Given the description of an element on the screen output the (x, y) to click on. 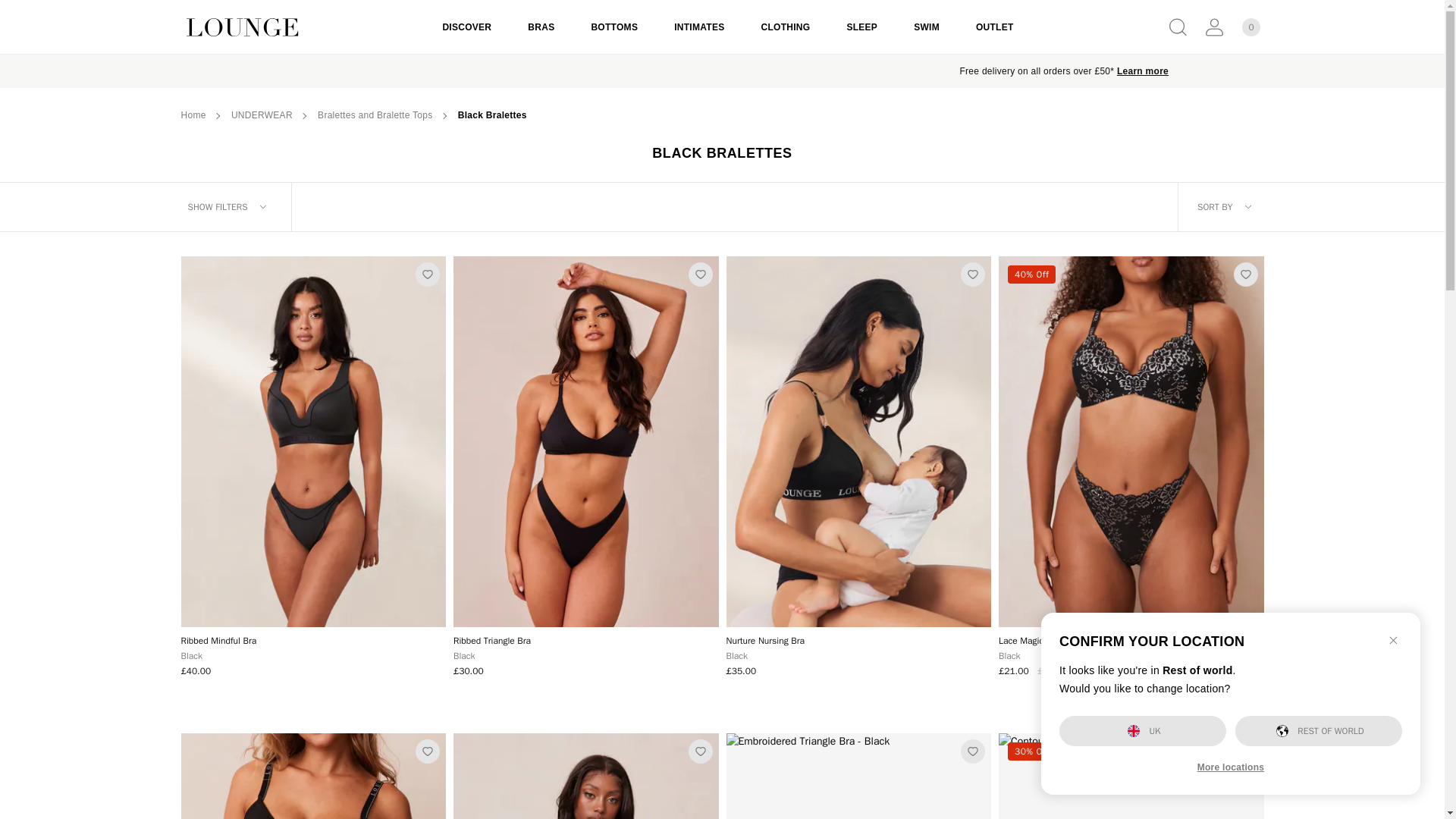
BRAS (540, 27)
DISCOVER (466, 27)
BOTTOMS (614, 27)
Lounge Underwear (294, 27)
INTIMATES (699, 27)
